Given the description of an element on the screen output the (x, y) to click on. 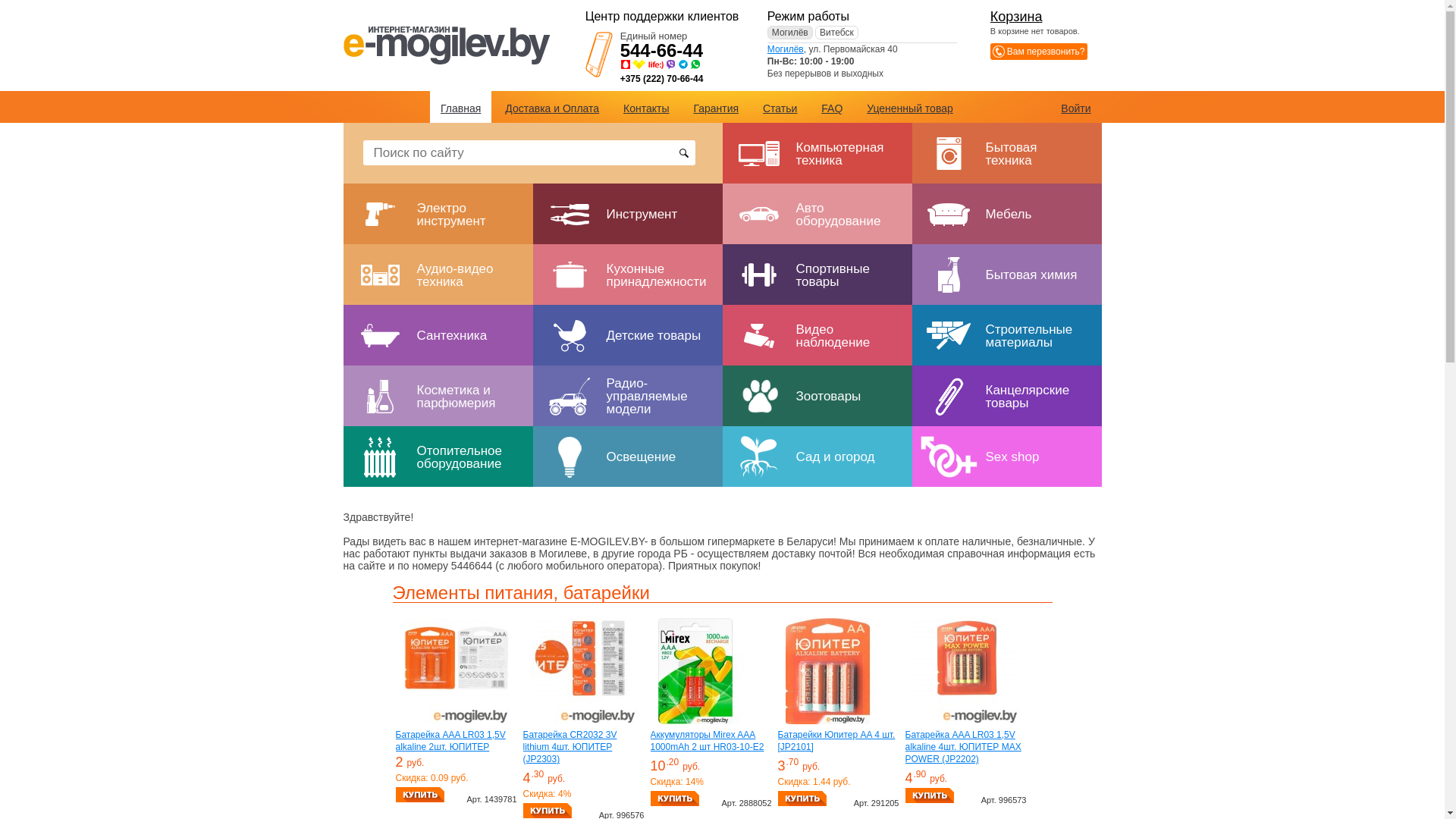
544-66-44 Element type: text (661, 50)
Sex shop Element type: text (1006, 456)
FAQ Element type: text (831, 108)
